Given the description of an element on the screen output the (x, y) to click on. 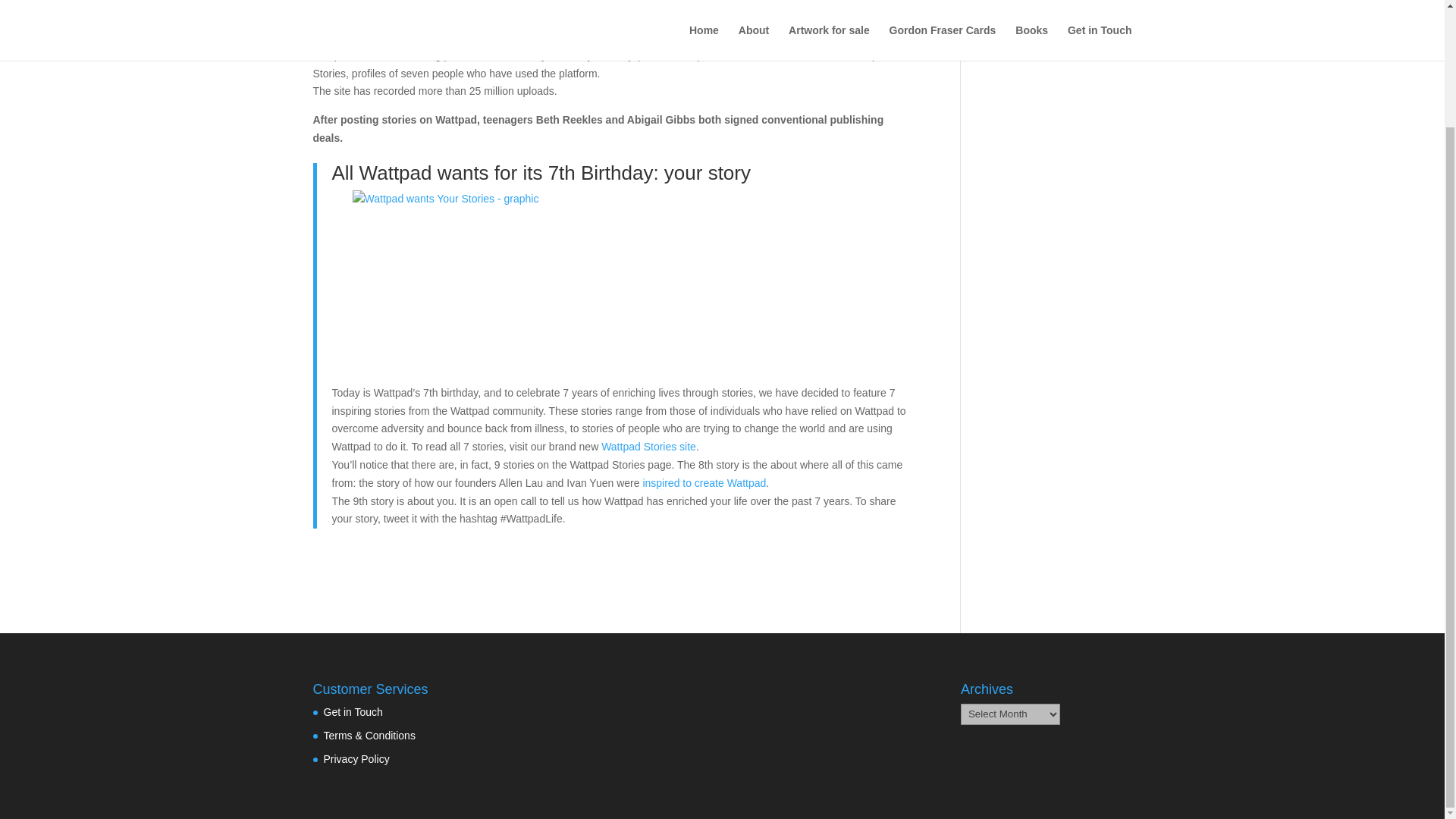
Creation of Wattpad (703, 482)
Get in Touch (352, 711)
Wattpad Stories site (648, 446)
Wattpad Stories site (648, 446)
All Wattpad wants for its 7th Birthday: your story (541, 172)
inspired to create Wattpad (703, 482)
Privacy Policy (355, 758)
